Given the description of an element on the screen output the (x, y) to click on. 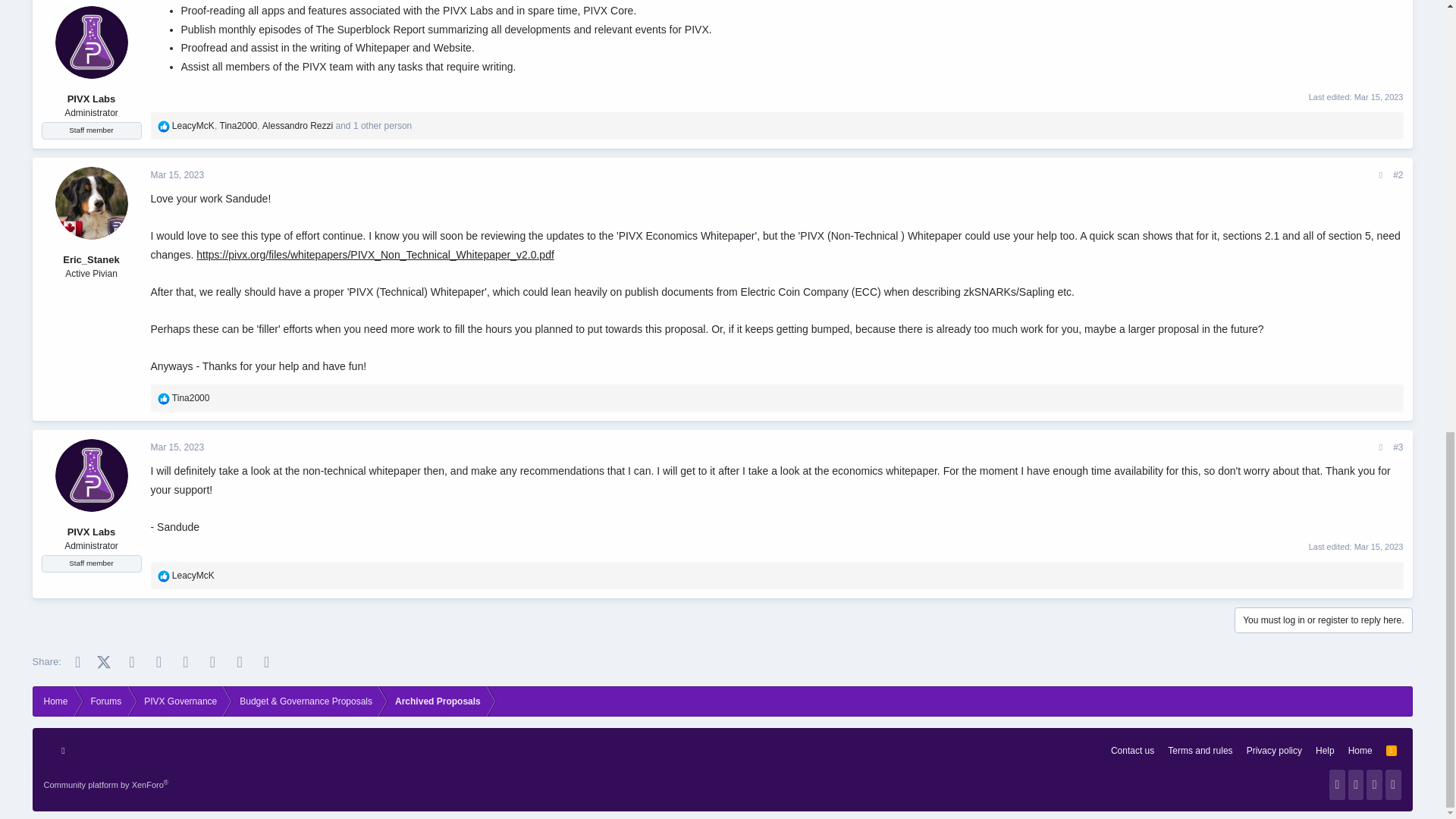
Like (163, 126)
Mar 15, 2023 at 4:11 PM (176, 447)
Like (163, 398)
Mar 15, 2023 at 6:23 PM (1378, 546)
RSS (1390, 750)
Like (163, 576)
Mar 15, 2023 at 3:44 PM (1378, 95)
Mar 15, 2023 at 3:56 PM (176, 174)
